Given the description of an element on the screen output the (x, y) to click on. 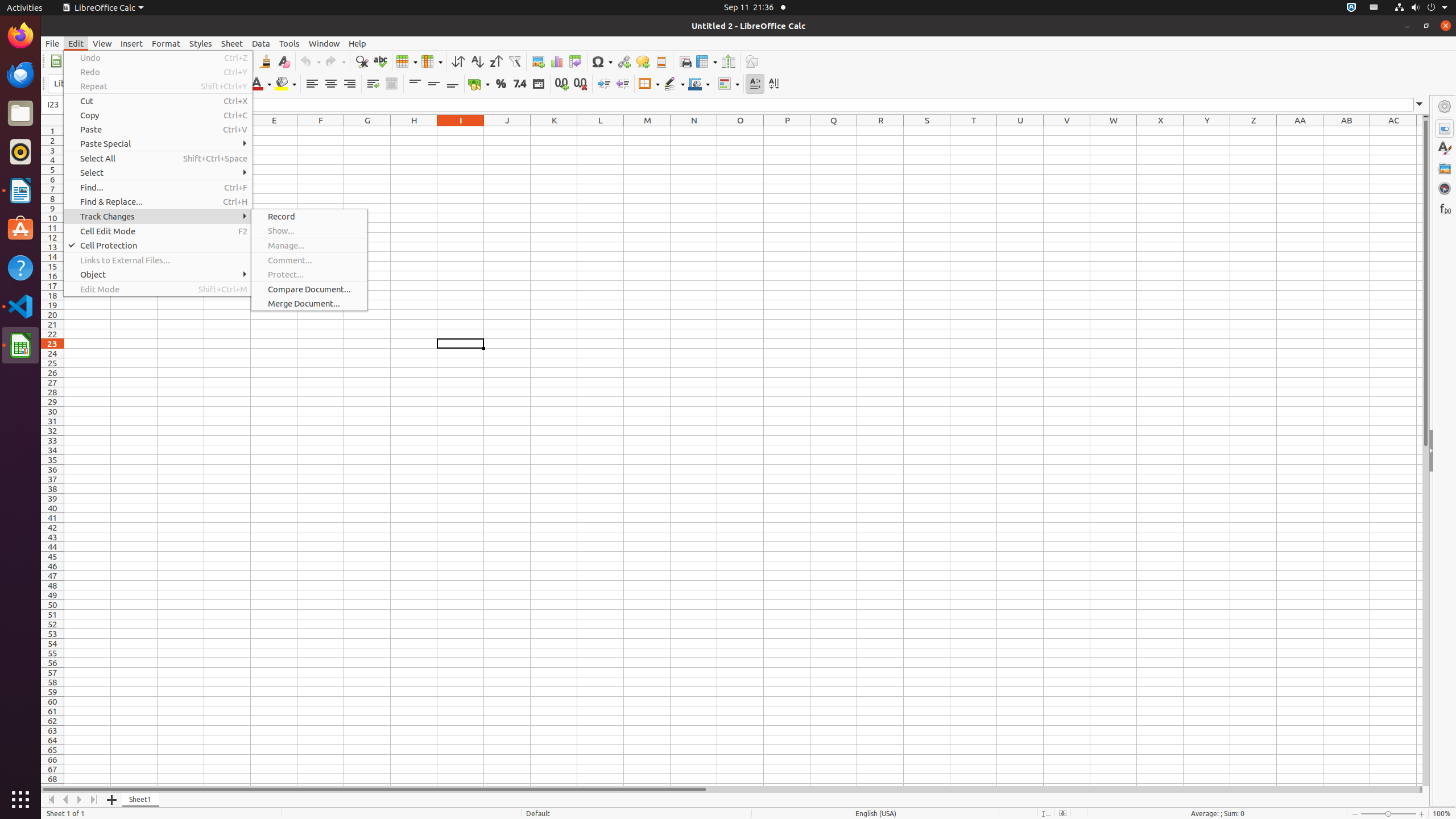
Pivot Table Element type: push-button (574, 61)
Clone Element type: push-button (264, 61)
Row Element type: push-button (406, 61)
Redo Element type: menu-item (157, 71)
Align Bottom Element type: push-button (452, 83)
